Given the description of an element on the screen output the (x, y) to click on. 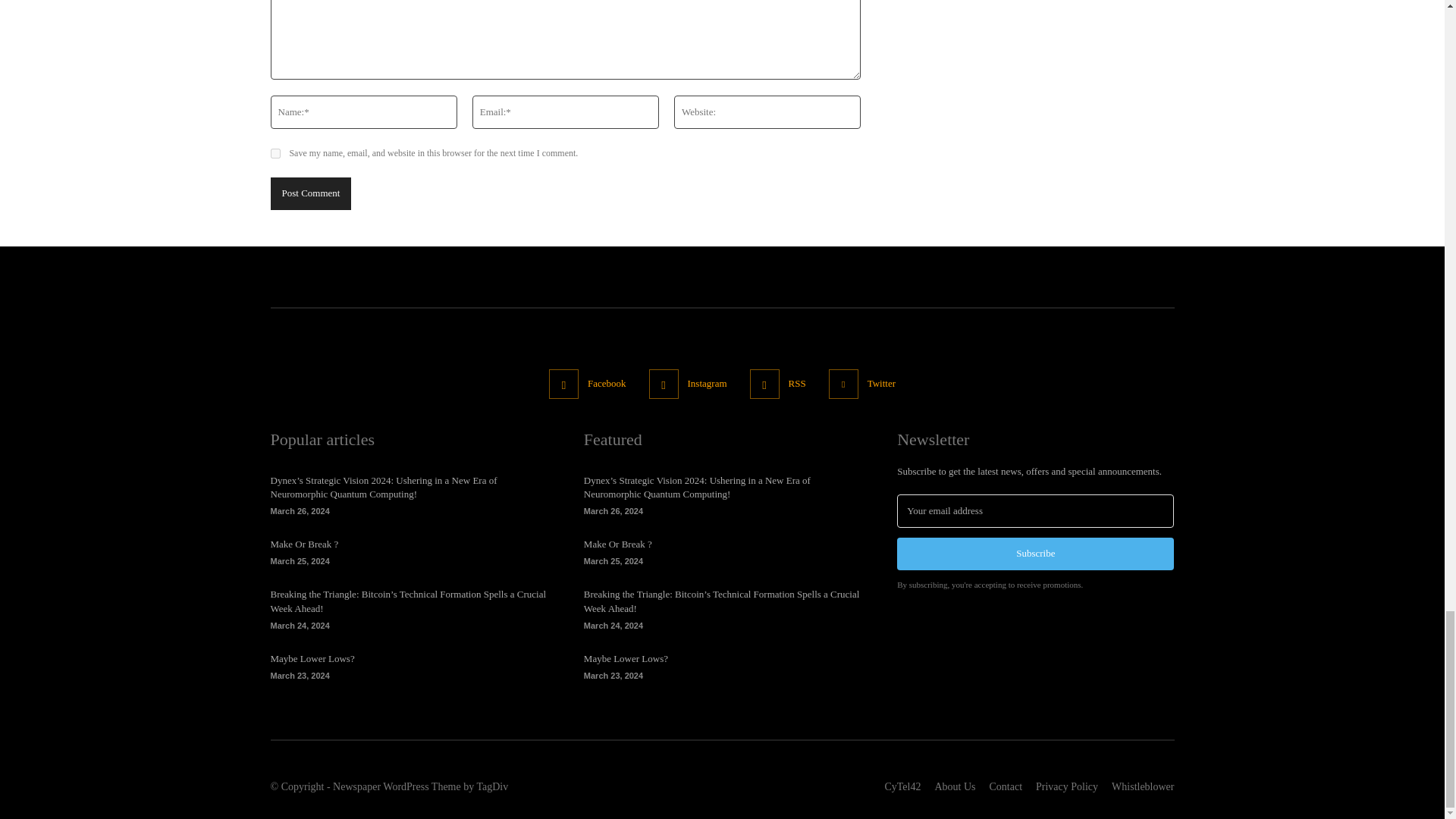
Post Comment (309, 193)
yes (274, 153)
